Given the description of an element on the screen output the (x, y) to click on. 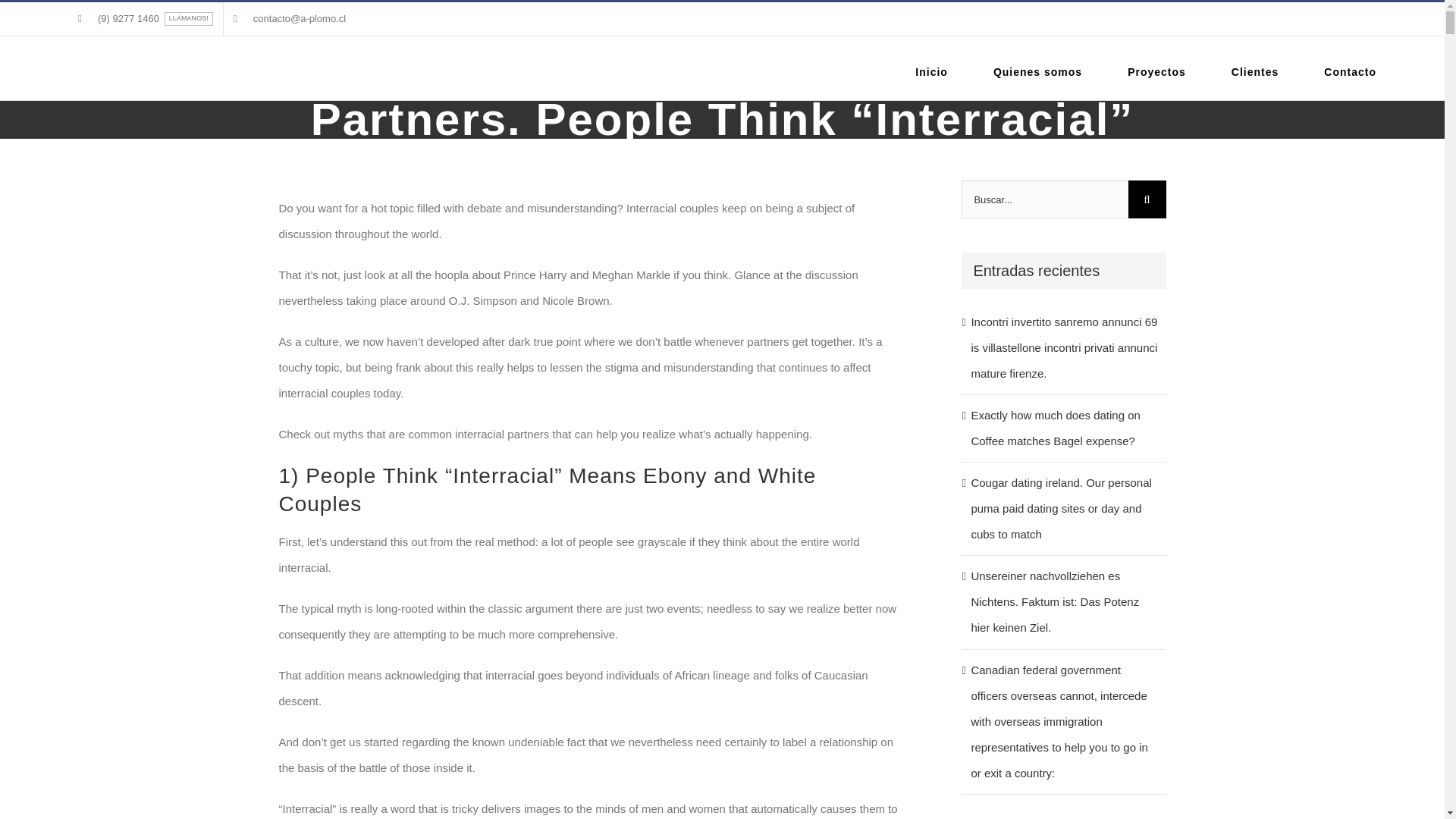
Contacto (1349, 71)
Proyectos (1156, 71)
Inicio (931, 71)
Clientes (1254, 71)
Quienes somos (1036, 71)
